Given the description of an element on the screen output the (x, y) to click on. 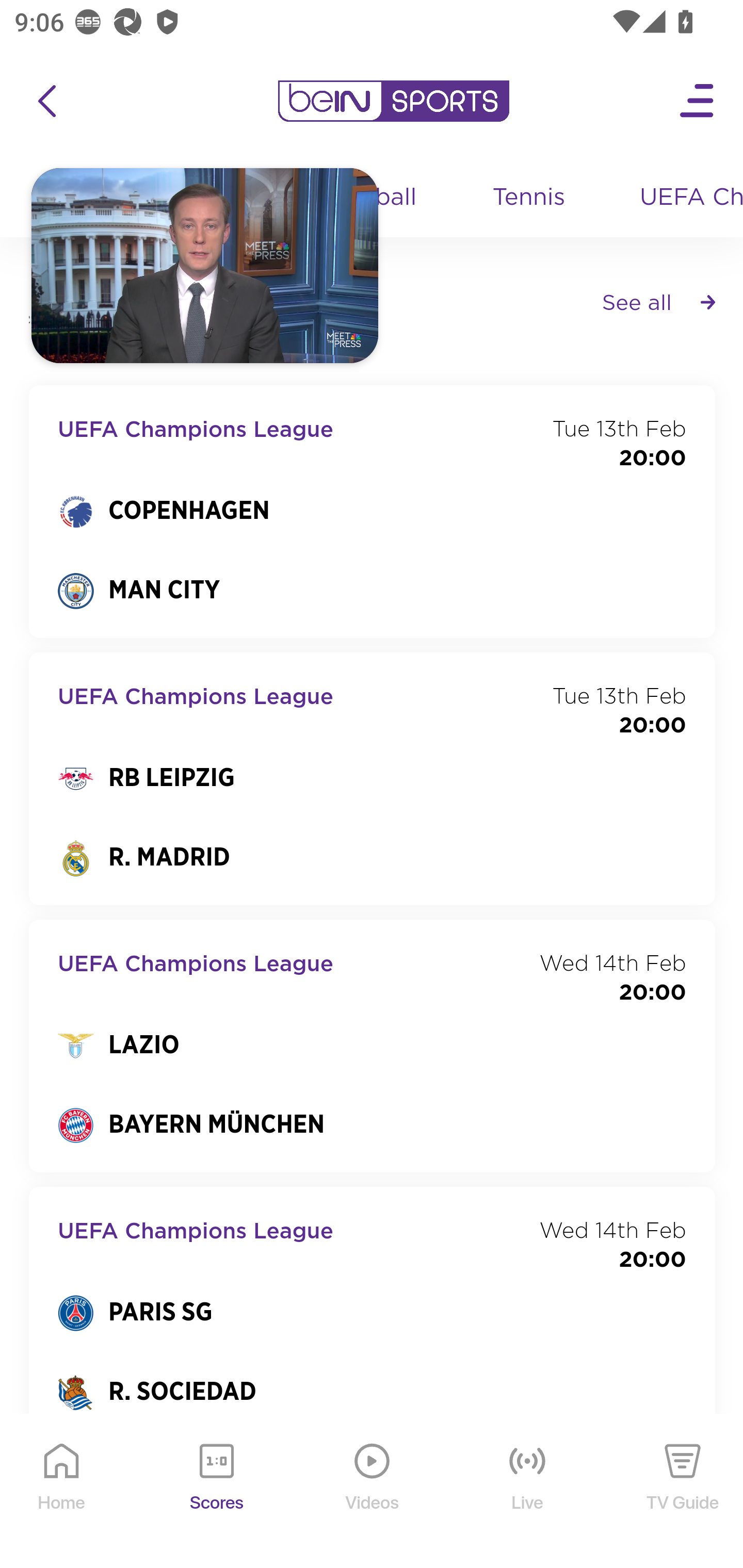
en-my?platform=mobile_android bein logo (392, 101)
icon back (46, 101)
Open Menu Icon (697, 101)
Tennis (530, 198)
UEFA Champions League (683, 198)
See all (658, 301)
Home Home Icon Home (61, 1491)
Scores Scores Icon Scores (216, 1491)
Videos Videos Icon Videos (372, 1491)
TV Guide TV Guide Icon TV Guide (682, 1491)
